Given the description of an element on the screen output the (x, y) to click on. 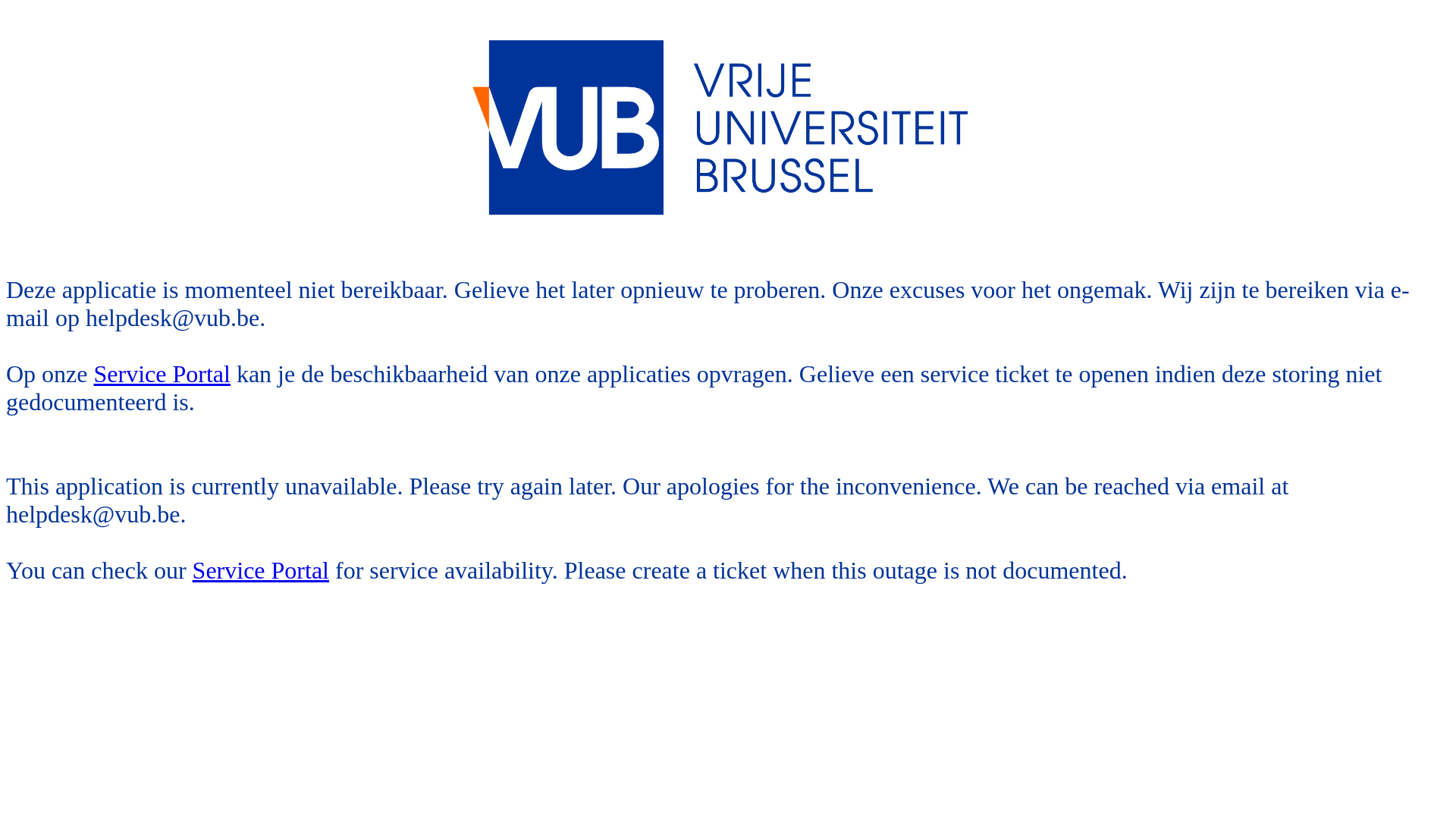
Service Portal Element type: text (162, 373)
Service Portal Element type: text (260, 569)
